Given the description of an element on the screen output the (x, y) to click on. 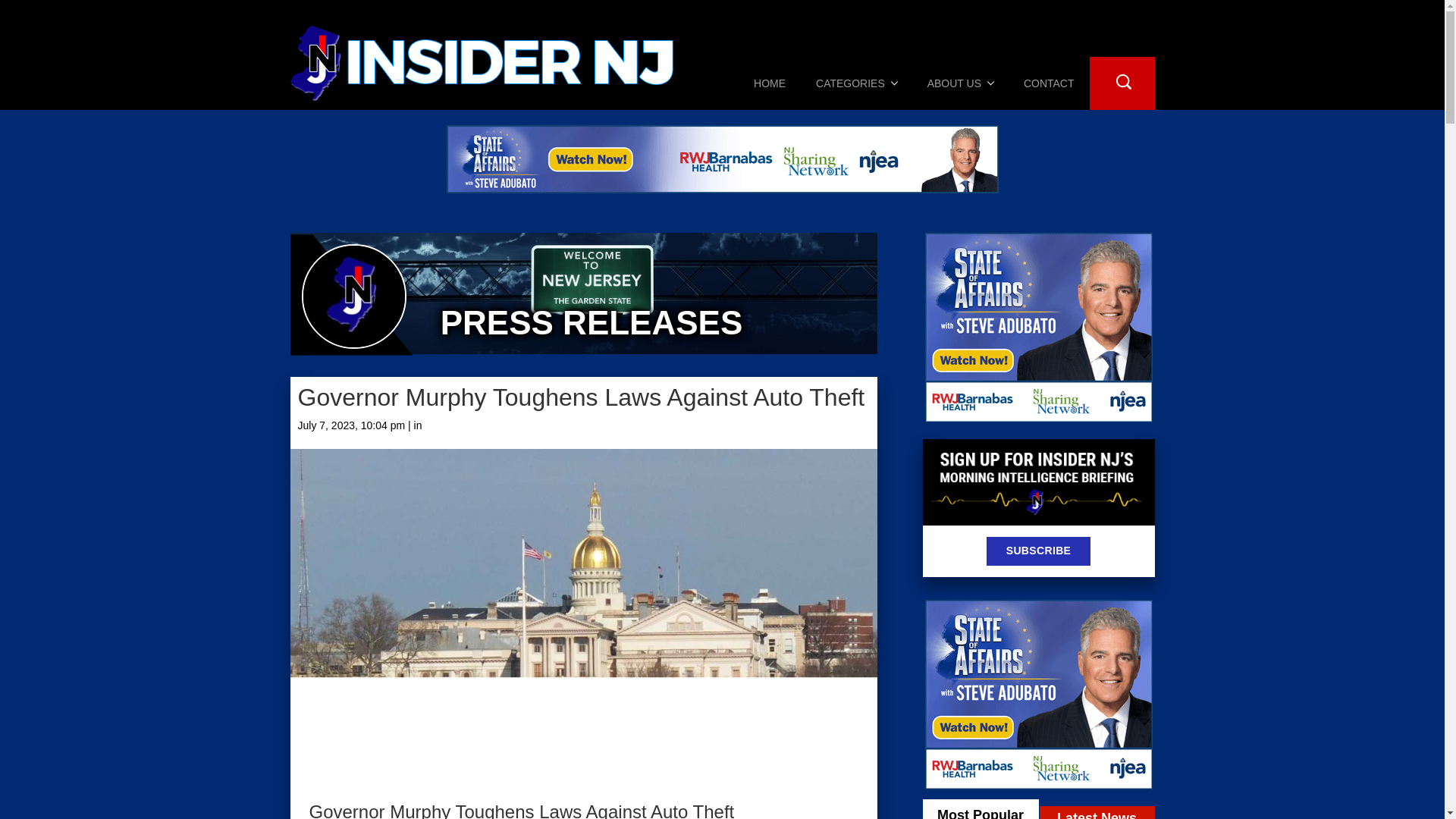
Contact (1049, 82)
Latest News (1096, 812)
SUBSCRIBE (1038, 551)
HOME (769, 82)
About Us (960, 82)
Categories (856, 82)
Home (769, 82)
CONTACT (1049, 82)
Most Popular (979, 809)
ABOUT US (960, 82)
CATEGORIES (856, 82)
